Given the description of an element on the screen output the (x, y) to click on. 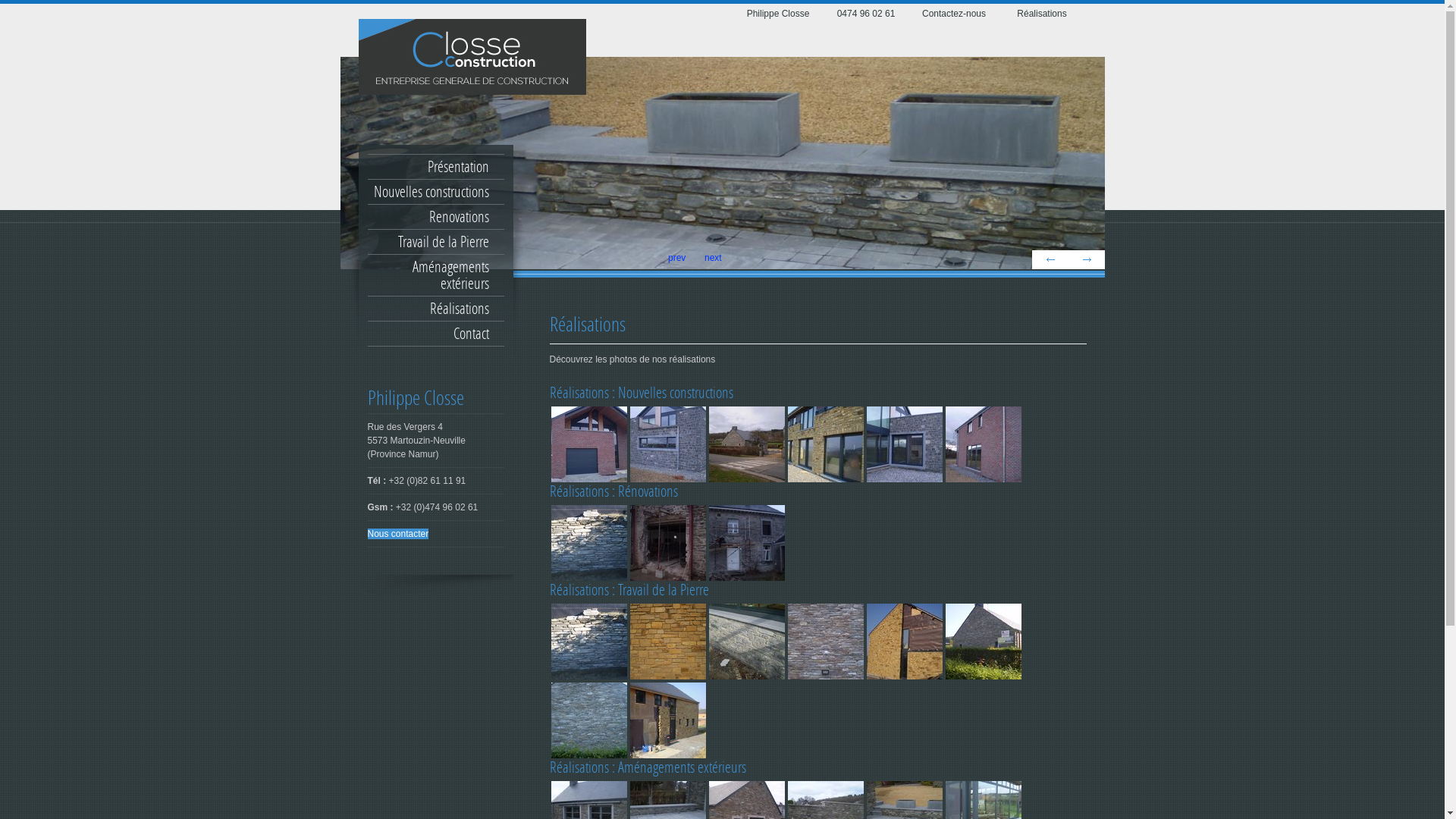
OLYMPUS DIGITAL CAMERA          Element type: hover (903, 641)
OLYMPUS DIGITAL CAMERA          Element type: hover (588, 542)
OLYMPUS DIGITAL CAMERA          Element type: hover (666, 719)
OLYMPUS DIGITAL CAMERA          Element type: hover (666, 641)
Contactez-nous Element type: text (953, 13)
OLYMPUS DIGITAL CAMERA          Element type: hover (903, 443)
OLYMPUS DIGITAL CAMERA          Element type: hover (588, 641)
Travail de la Pierre Element type: text (435, 241)
OLYMPUS DIGITAL CAMERA          Element type: hover (824, 641)
Renovations Element type: text (435, 216)
0474 96 02 61 Element type: text (865, 13)
OLYMPUS DIGITAL CAMERA          Element type: hover (824, 443)
next Element type: text (1085, 259)
Nouvelles constructions Element type: text (435, 191)
Contact Element type: text (435, 333)
OLYMPUS DIGITAL CAMERA          Element type: hover (982, 443)
OLYMPUS DIGITAL CAMERA          Element type: hover (745, 641)
prev Element type: text (1049, 259)
OLYMPUS DIGITAL CAMERA          Element type: hover (666, 542)
OLYMPUS DIGITAL CAMERA          Element type: hover (588, 443)
OLYMPUS DIGITAL CAMERA          Element type: hover (745, 443)
Philippe Closse Element type: text (777, 13)
Nous contacter Element type: text (397, 533)
OLYMPUS DIGITAL CAMERA          Element type: hover (666, 443)
OLYMPUS DIGITAL CAMERA          Element type: hover (982, 641)
OLYMPUS DIGITAL CAMERA          Element type: hover (745, 542)
OLYMPUS DIGITAL CAMERA          Element type: hover (588, 719)
